Given the description of an element on the screen output the (x, y) to click on. 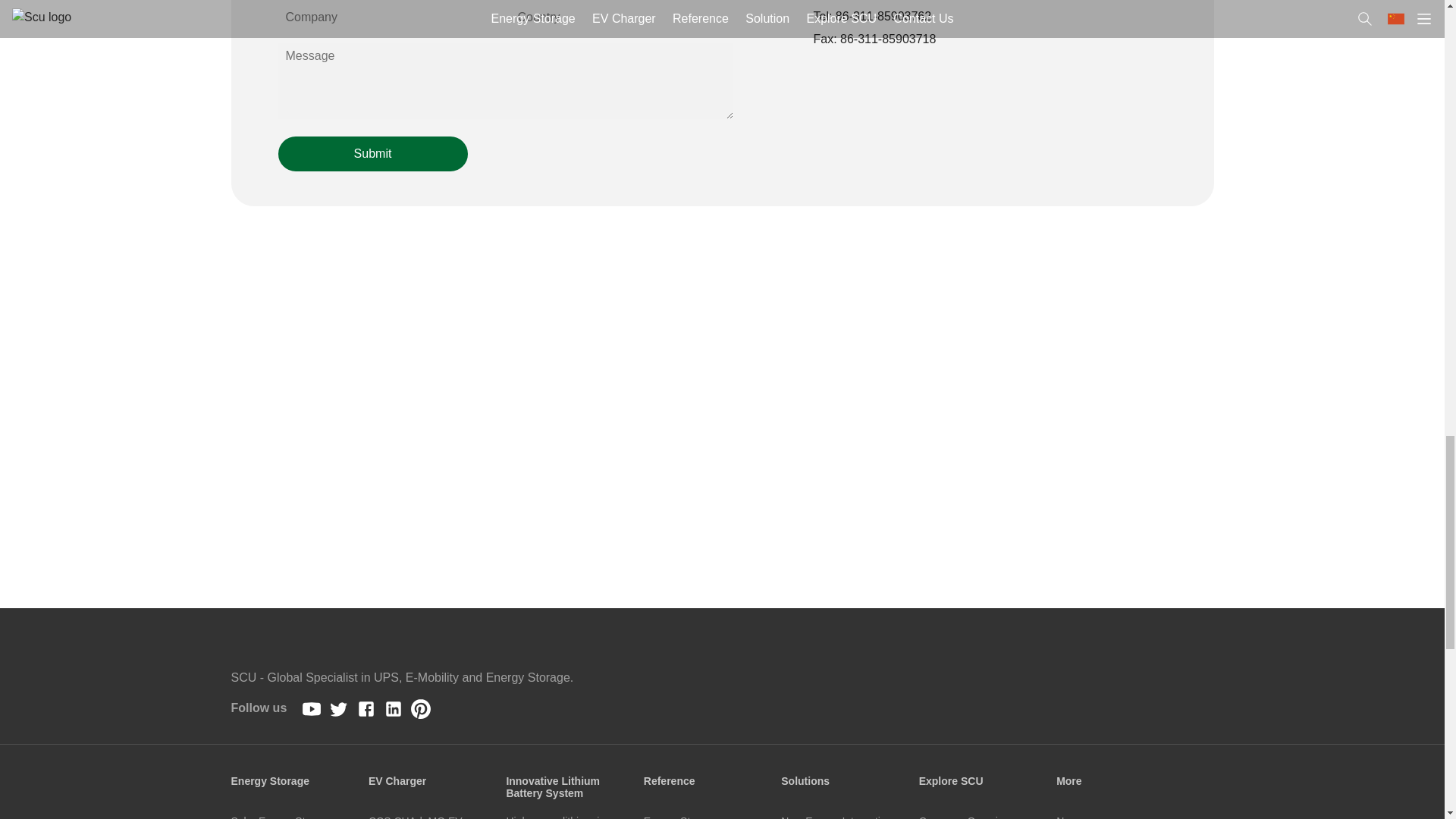
Submit (372, 153)
